Given the description of an element on the screen output the (x, y) to click on. 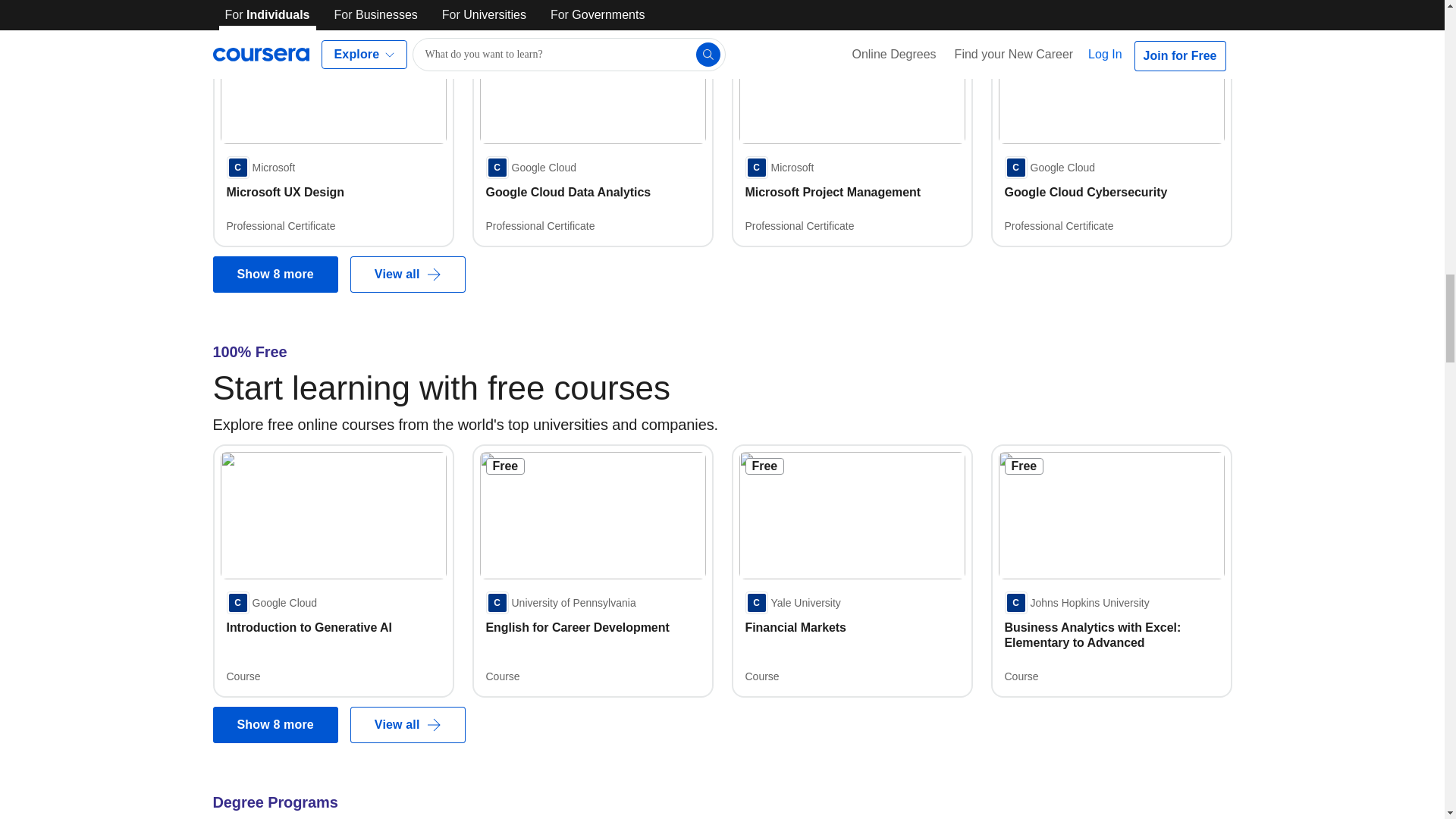
Google Cloud (271, 602)
Google Cloud (1049, 167)
Microsoft (260, 167)
Google Cloud (530, 167)
Yale University (792, 602)
Microsoft (778, 167)
University of Pennsylvania (559, 602)
Johns Hopkins University (1076, 602)
